Given the description of an element on the screen output the (x, y) to click on. 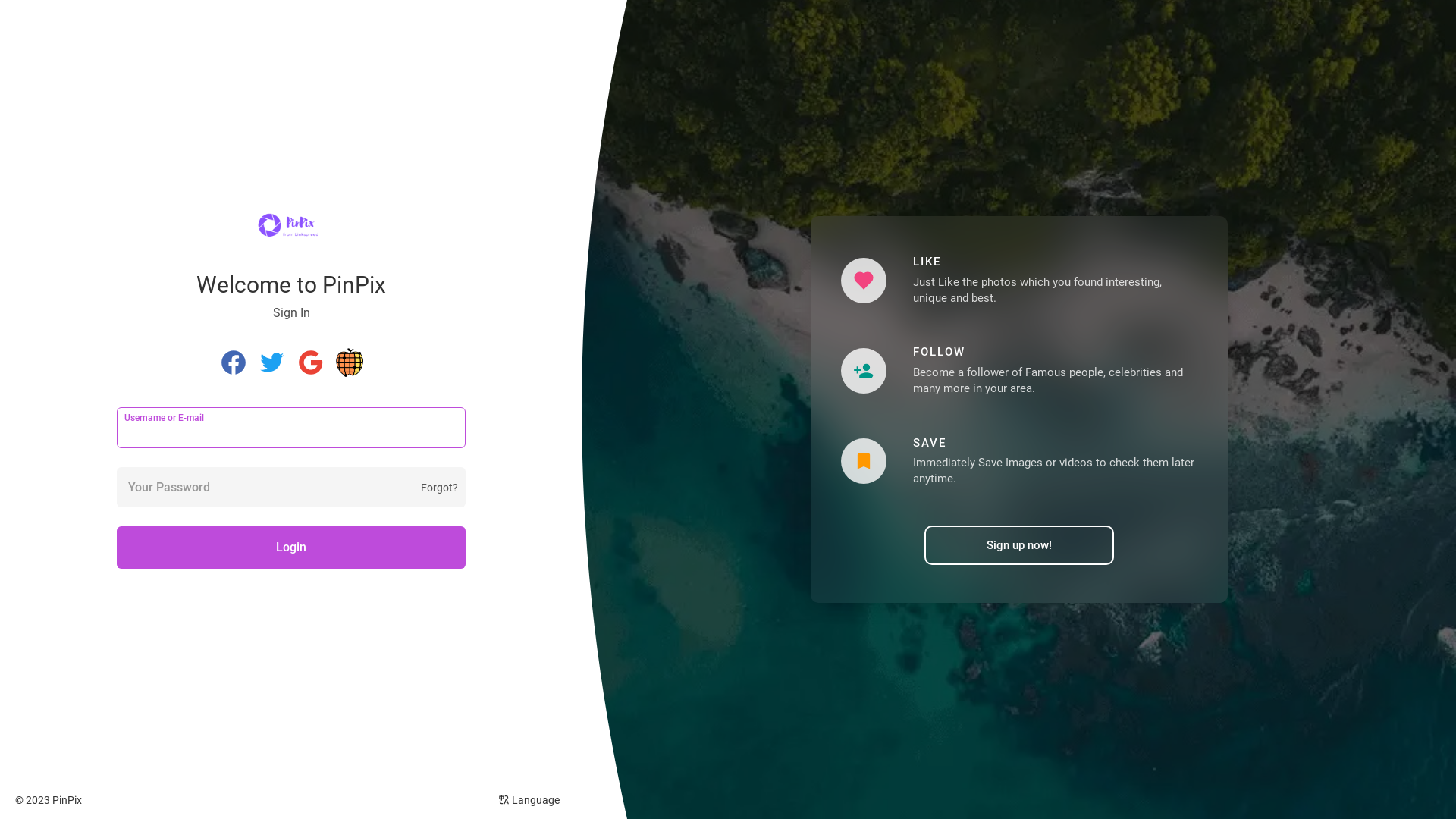
Login Element type: text (290, 547)
Forgot? Element type: text (439, 487)
Sign up now! Element type: text (1018, 544)
